Given the description of an element on the screen output the (x, y) to click on. 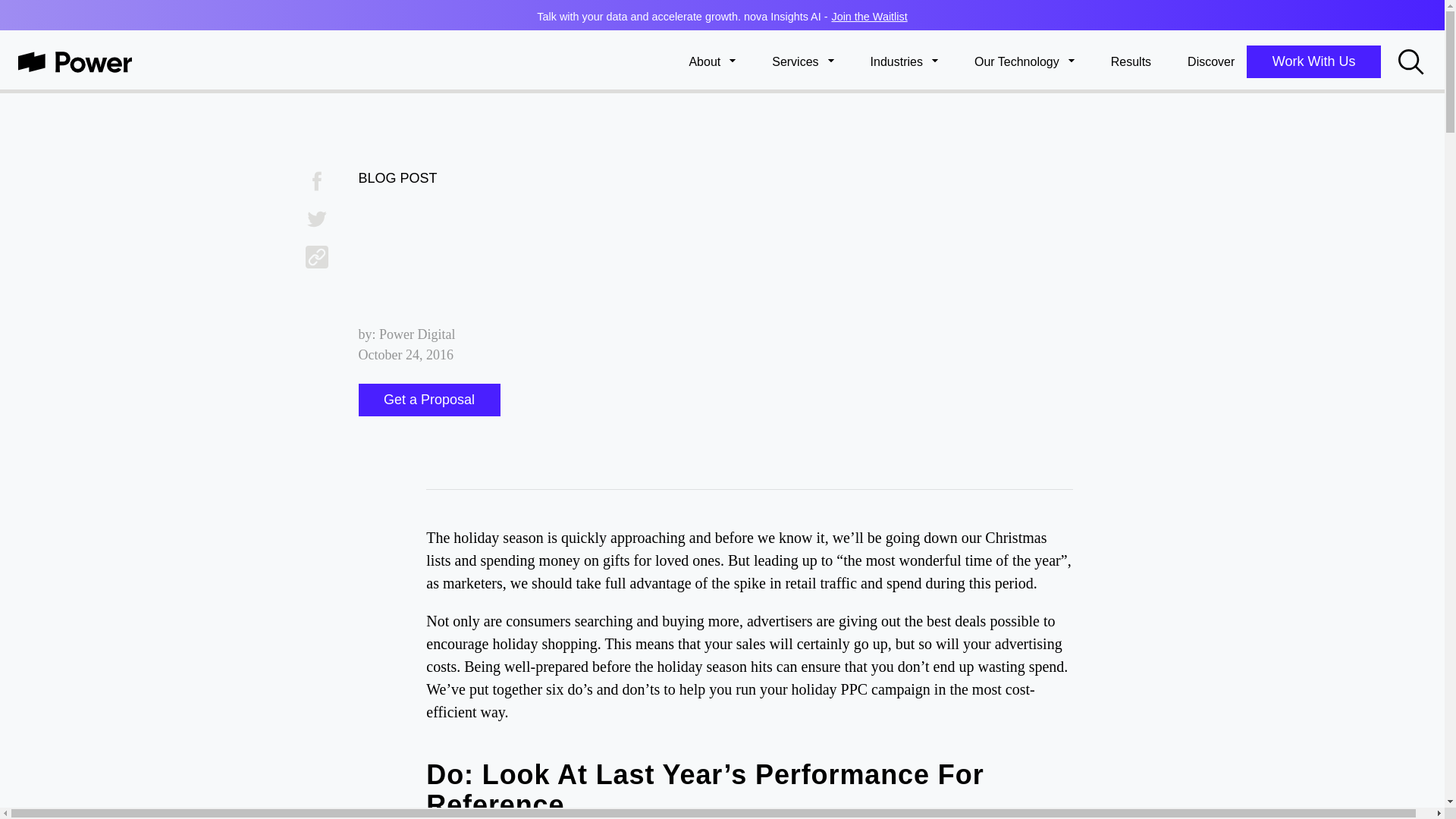
Services (801, 62)
About (711, 62)
About (711, 62)
Industries (903, 62)
Services (801, 62)
Join the Waitlist (869, 16)
